Given the description of an element on the screen output the (x, y) to click on. 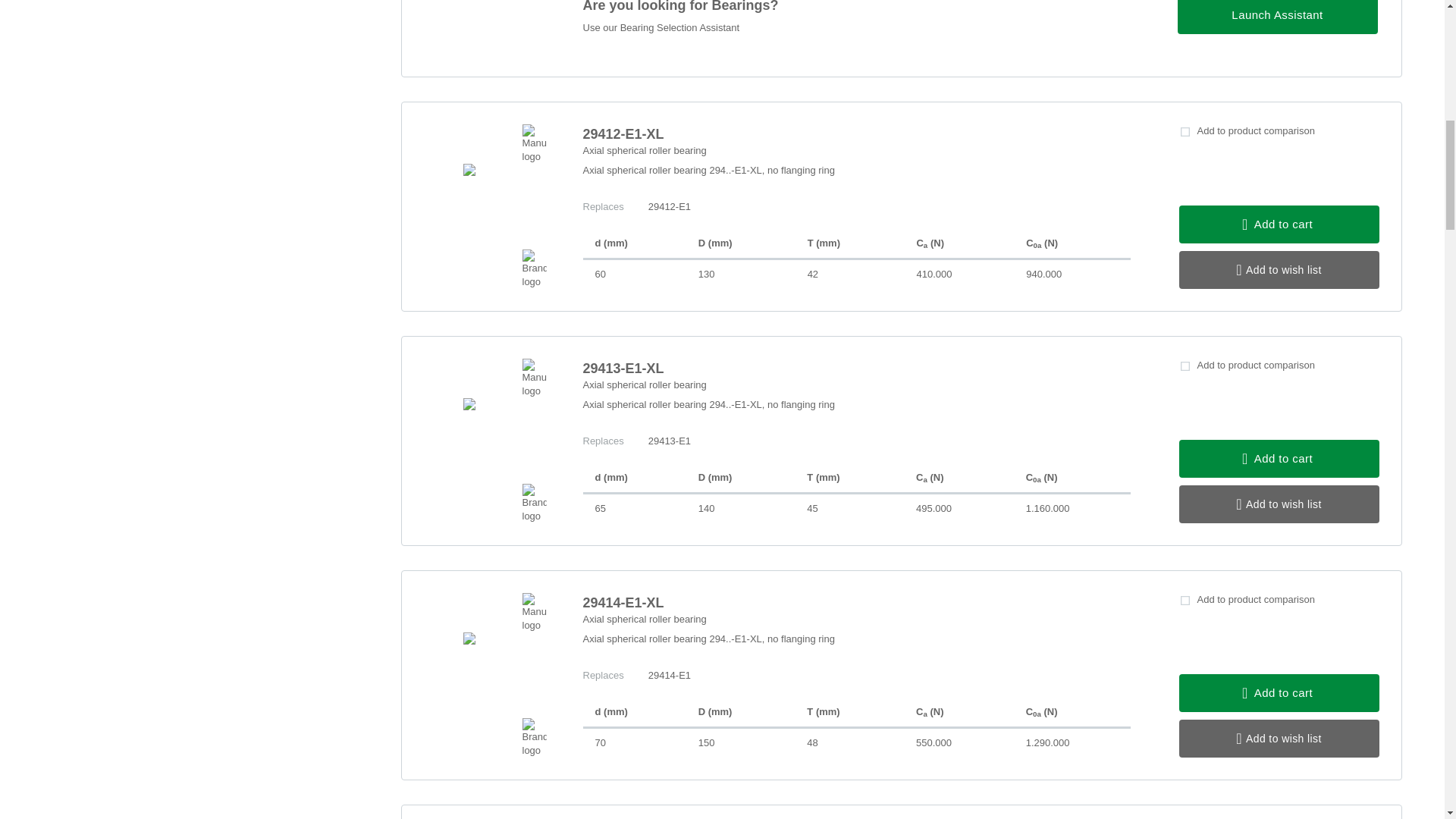
29414-E1-XL (855, 602)
29413-E1-XL (855, 368)
Add to wish list (1277, 738)
Axial spherical roller bearing (855, 619)
Add to wish list (1277, 504)
Axial spherical roller bearing 294..-E1-XL, no flanging ring (855, 178)
Axial spherical roller bearing 294..-E1-XL, no flanging ring (855, 647)
Add to wish list (1277, 269)
Launch Assistant (1276, 17)
29412-E1-XL (855, 134)
Add to cart (1277, 224)
Add to cart (1277, 458)
Axial spherical roller bearing (855, 151)
Axial spherical roller bearing 294..-E1-XL, no flanging ring (855, 413)
Axial spherical roller bearing (855, 385)
